Given the description of an element on the screen output the (x, y) to click on. 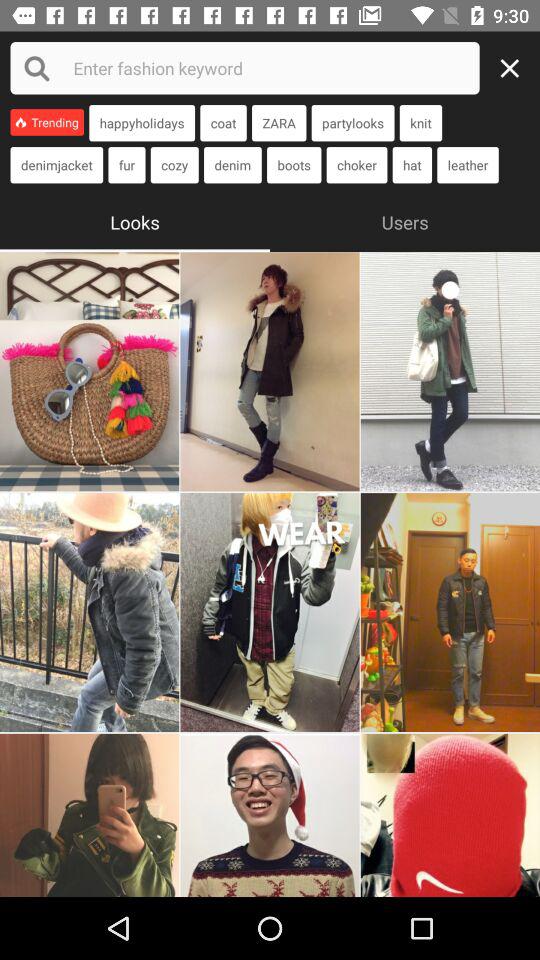
select this thumbnail (450, 815)
